Given the description of an element on the screen output the (x, y) to click on. 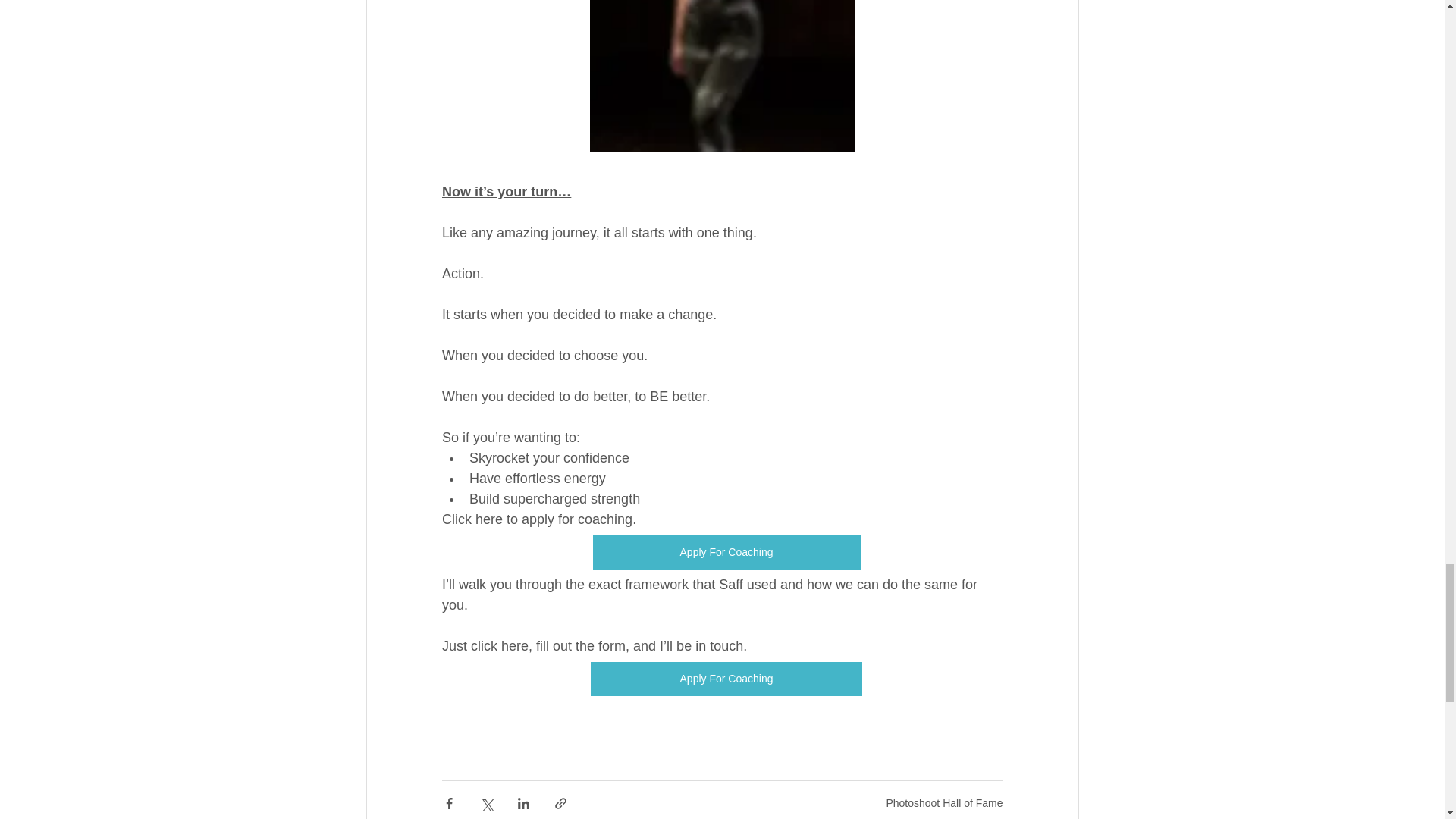
Apply For Coaching (725, 678)
Apply For Coaching (726, 552)
Photoshoot Hall of Fame (944, 802)
